Given the description of an element on the screen output the (x, y) to click on. 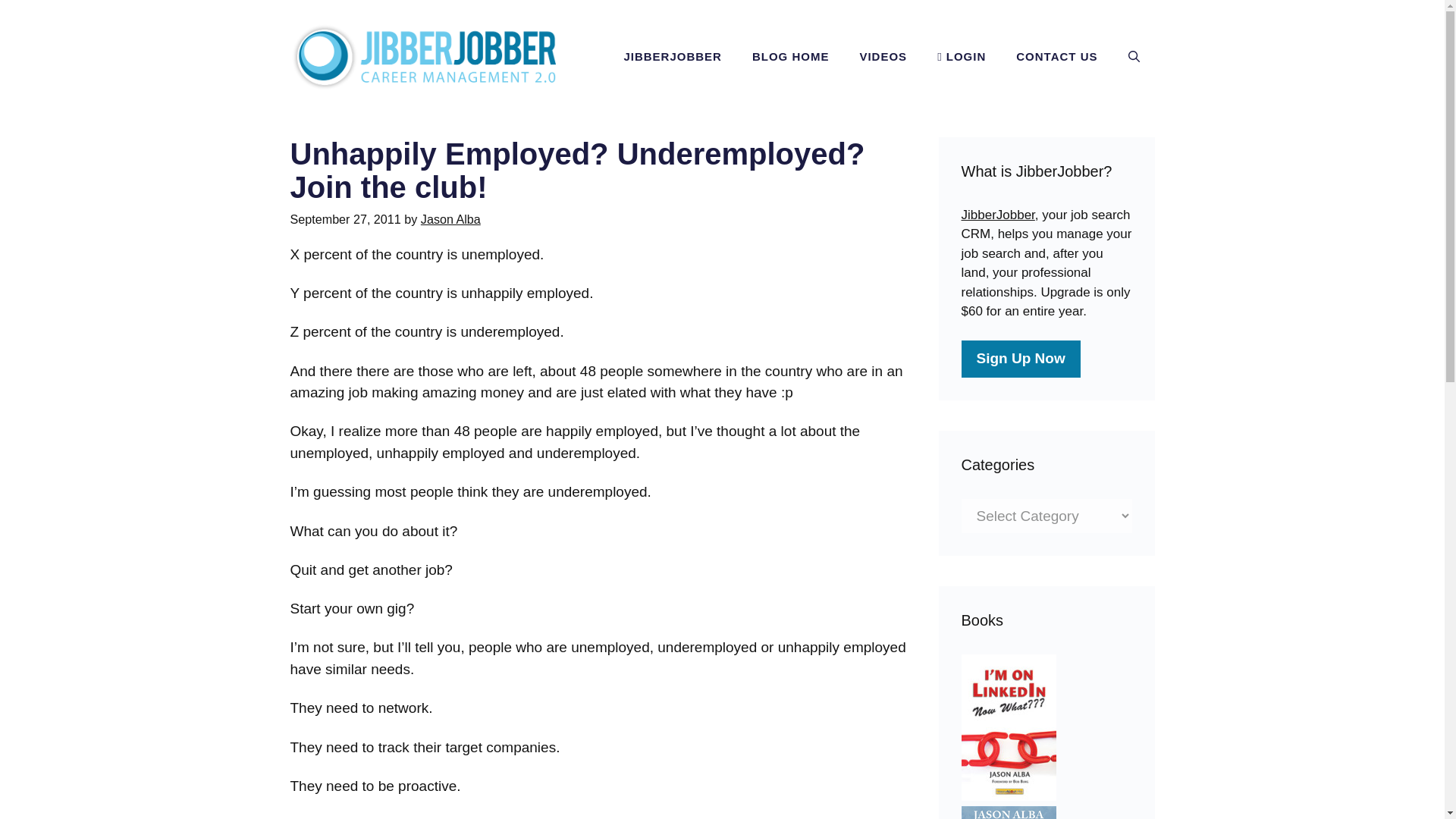
JibberJobber Blog (421, 55)
View all posts by Jason Alba (450, 219)
CONTACT US (1056, 56)
Sign Up Now (1020, 358)
JibberJobber (997, 214)
Jason Alba (450, 219)
JibberJobber Blog (421, 56)
JIBBERJOBBER (672, 56)
BLOG HOME (790, 56)
VIDEOS (882, 56)
